Given the description of an element on the screen output the (x, y) to click on. 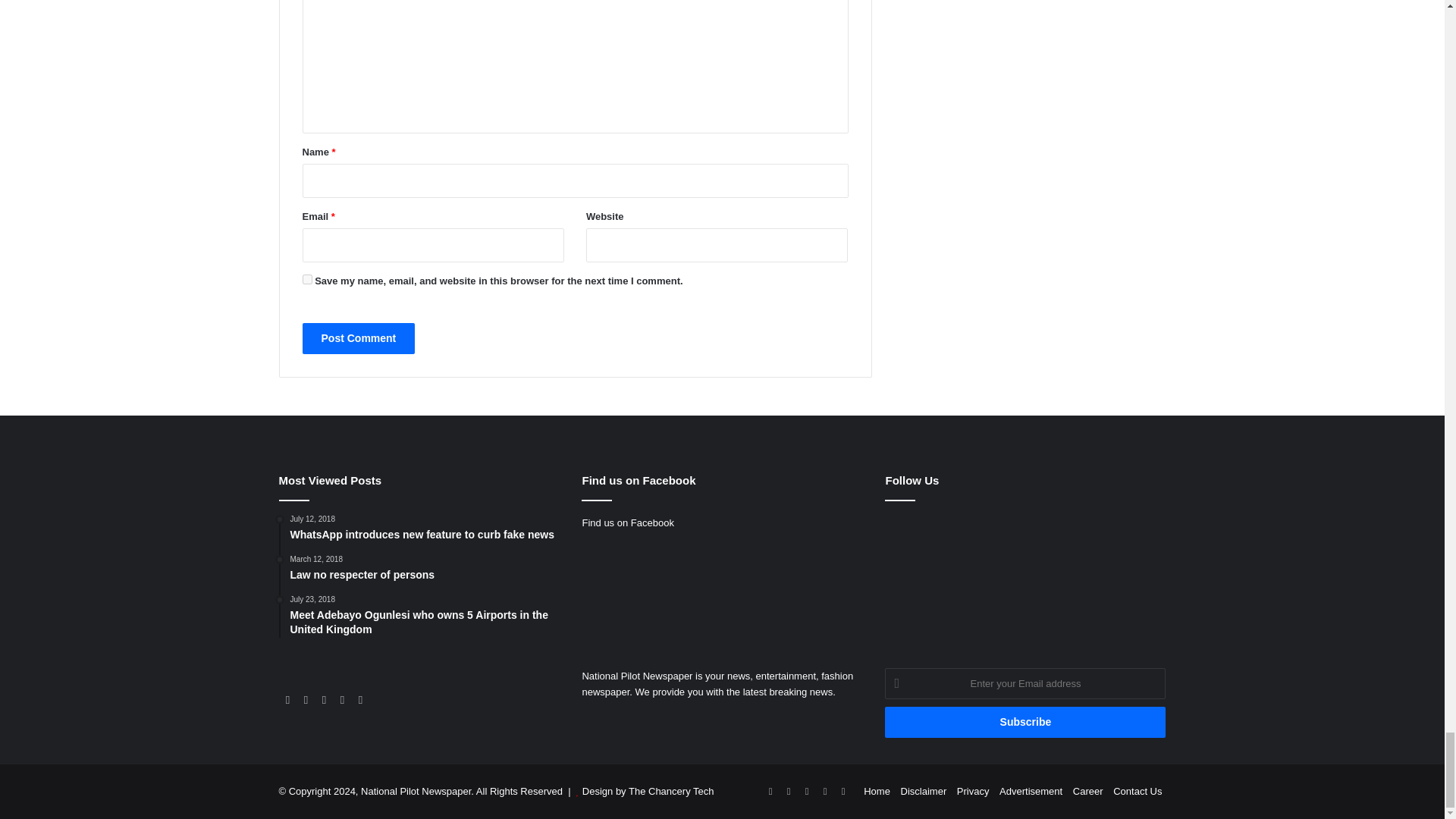
Subscribe (1025, 721)
Post Comment (357, 337)
yes (306, 279)
